Given the description of an element on the screen output the (x, y) to click on. 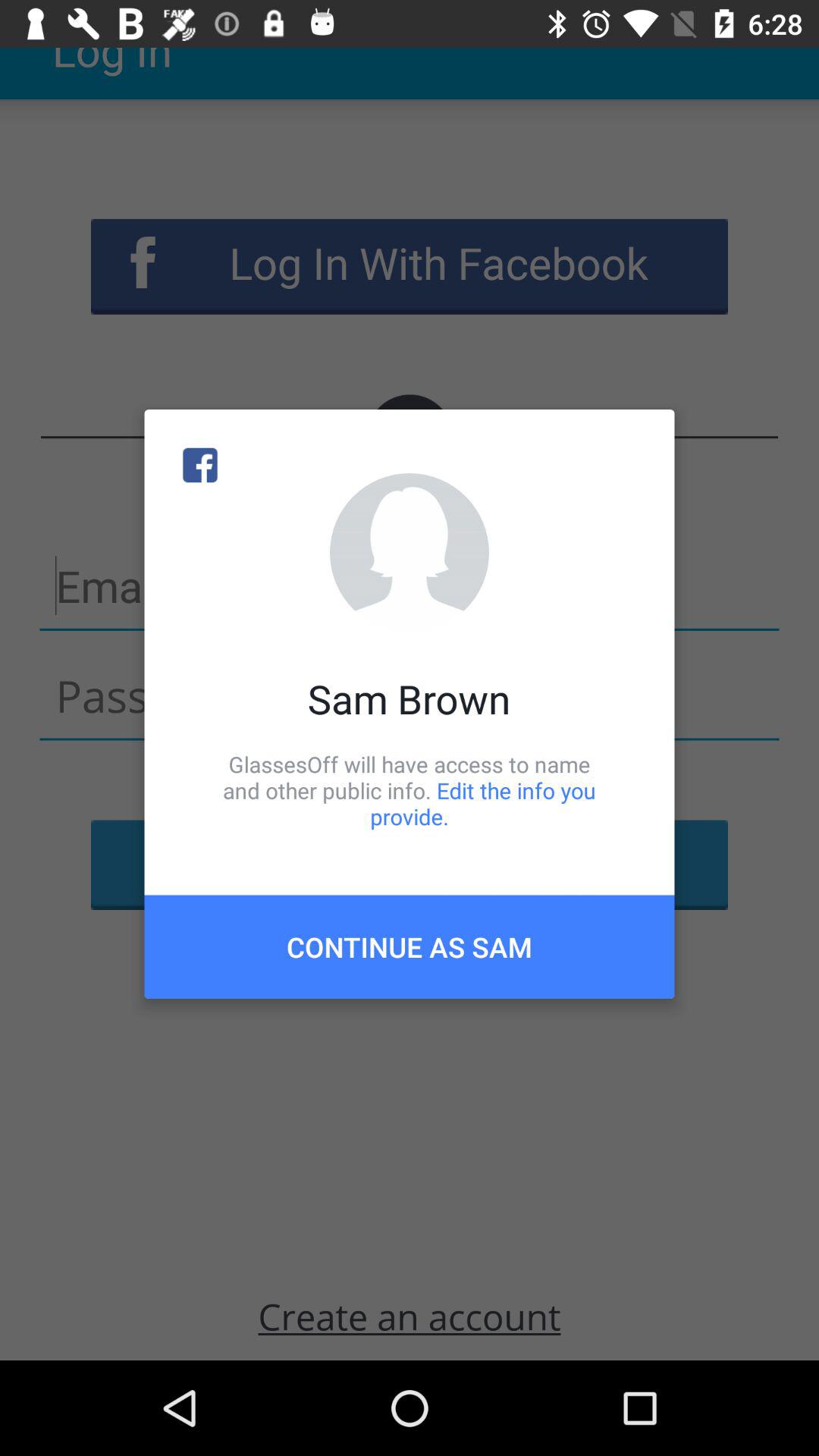
choose item below the glassesoff will have item (409, 946)
